Given the description of an element on the screen output the (x, y) to click on. 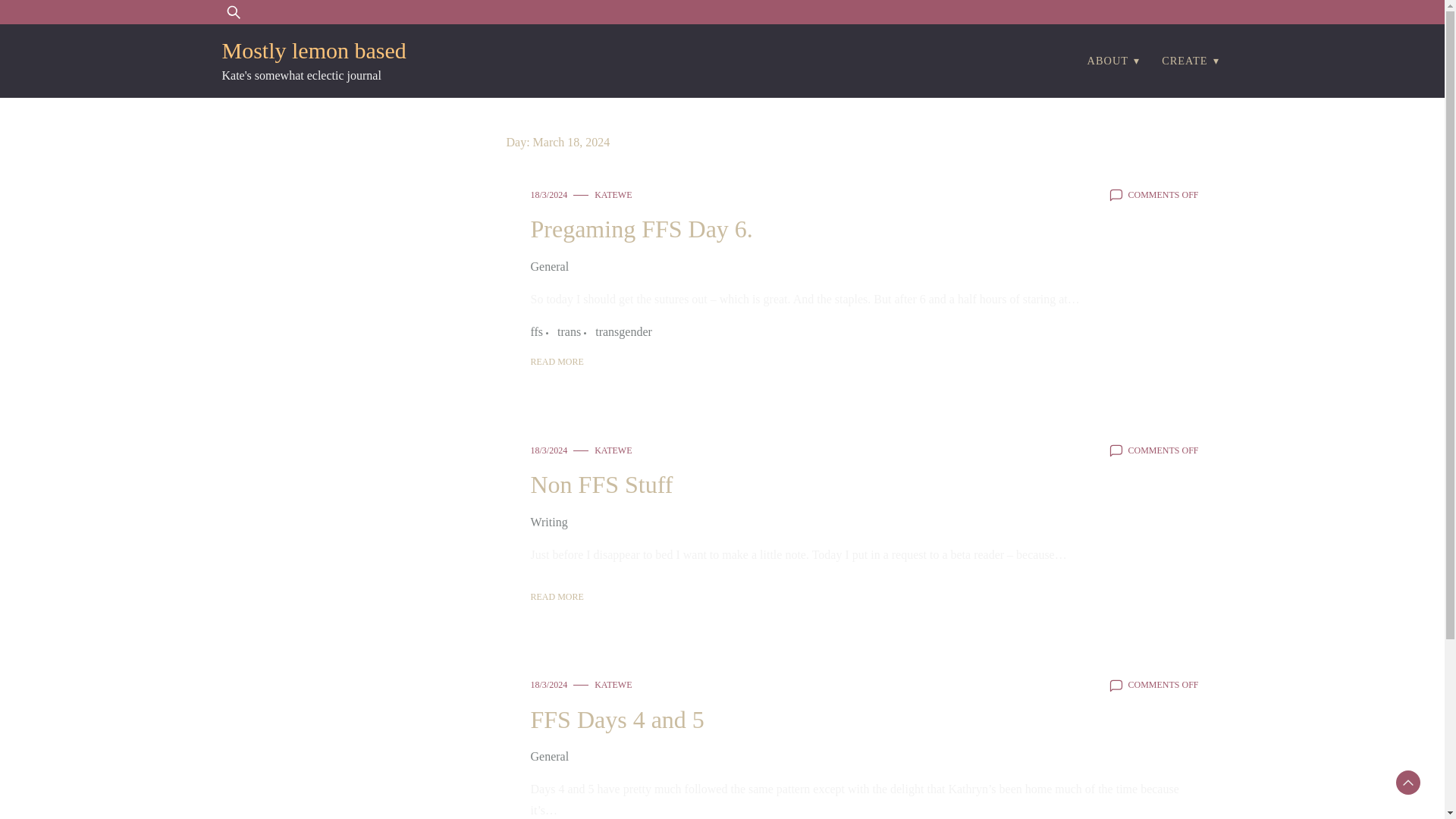
CREATE (1185, 60)
KATEWE (612, 450)
Mostly lemon based (313, 50)
Writing (549, 521)
READ MORE (557, 596)
Search (56, 21)
trans (573, 331)
General (550, 756)
KATEWE (612, 194)
Pregaming FFS Day 6. (641, 228)
